Given the description of an element on the screen output the (x, y) to click on. 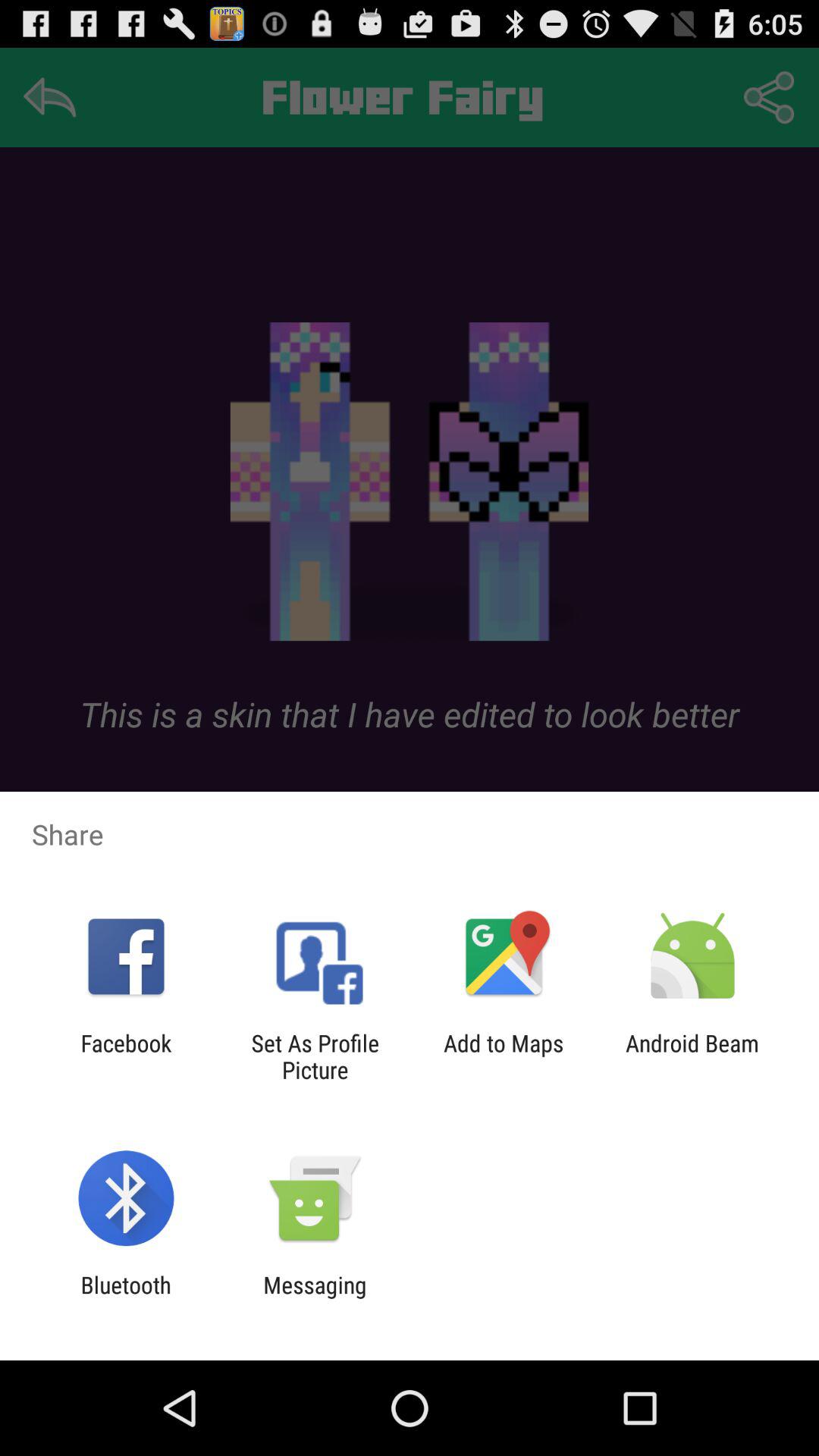
select the app to the right of set as profile app (503, 1056)
